Given the description of an element on the screen output the (x, y) to click on. 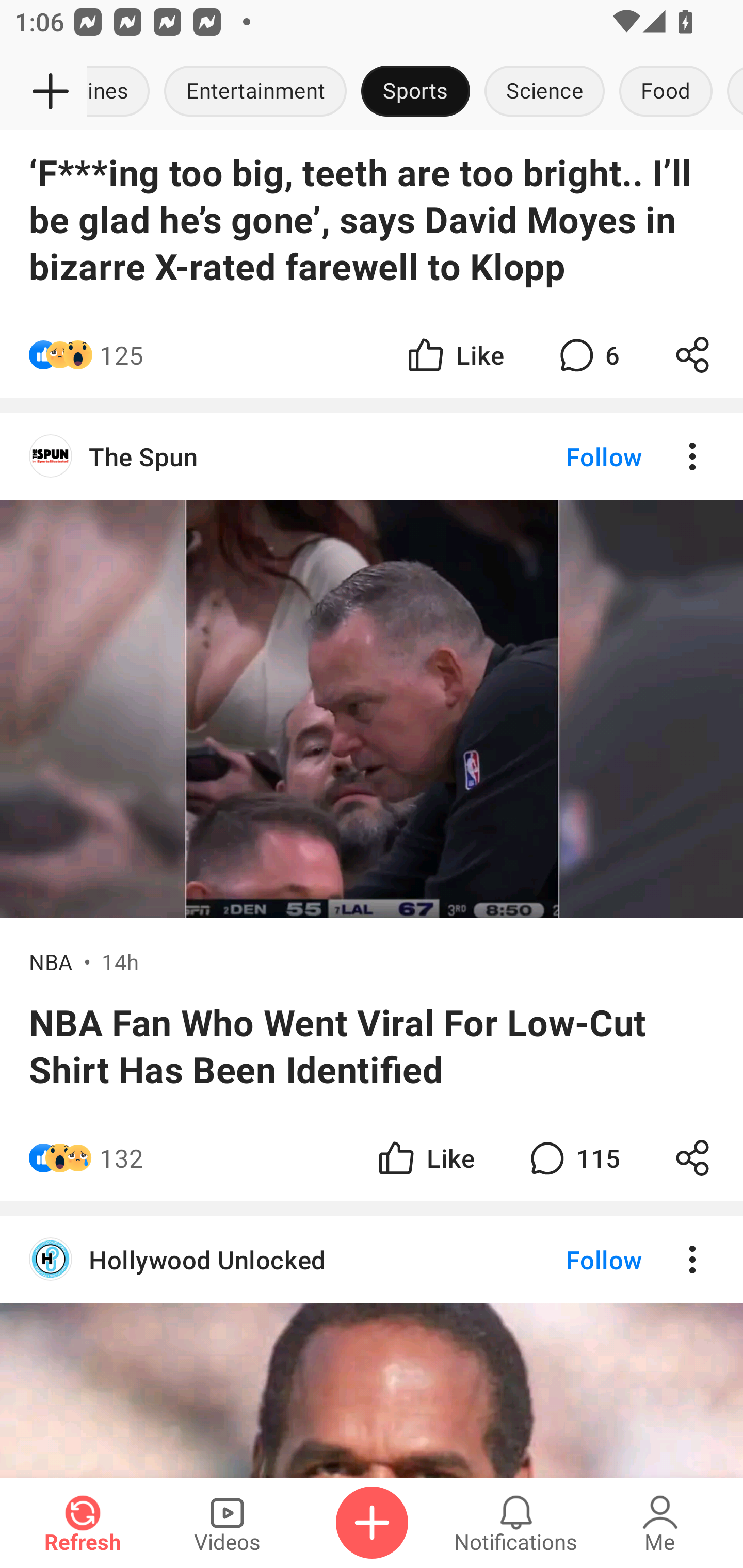
Headlines (121, 91)
Entertainment (254, 91)
Sports (415, 91)
Science (544, 91)
Food (665, 91)
125 (121, 355)
Like (454, 355)
6 (587, 355)
The Spun Follow (371, 456)
Follow (569, 456)
132 (121, 1157)
Like (425, 1157)
115 (572, 1157)
Hollywood Unlocked Follow (371, 1346)
Hollywood Unlocked Follow (371, 1259)
Follow (569, 1259)
Videos (227, 1522)
Notifications (516, 1522)
Me (659, 1522)
